Given the description of an element on the screen output the (x, y) to click on. 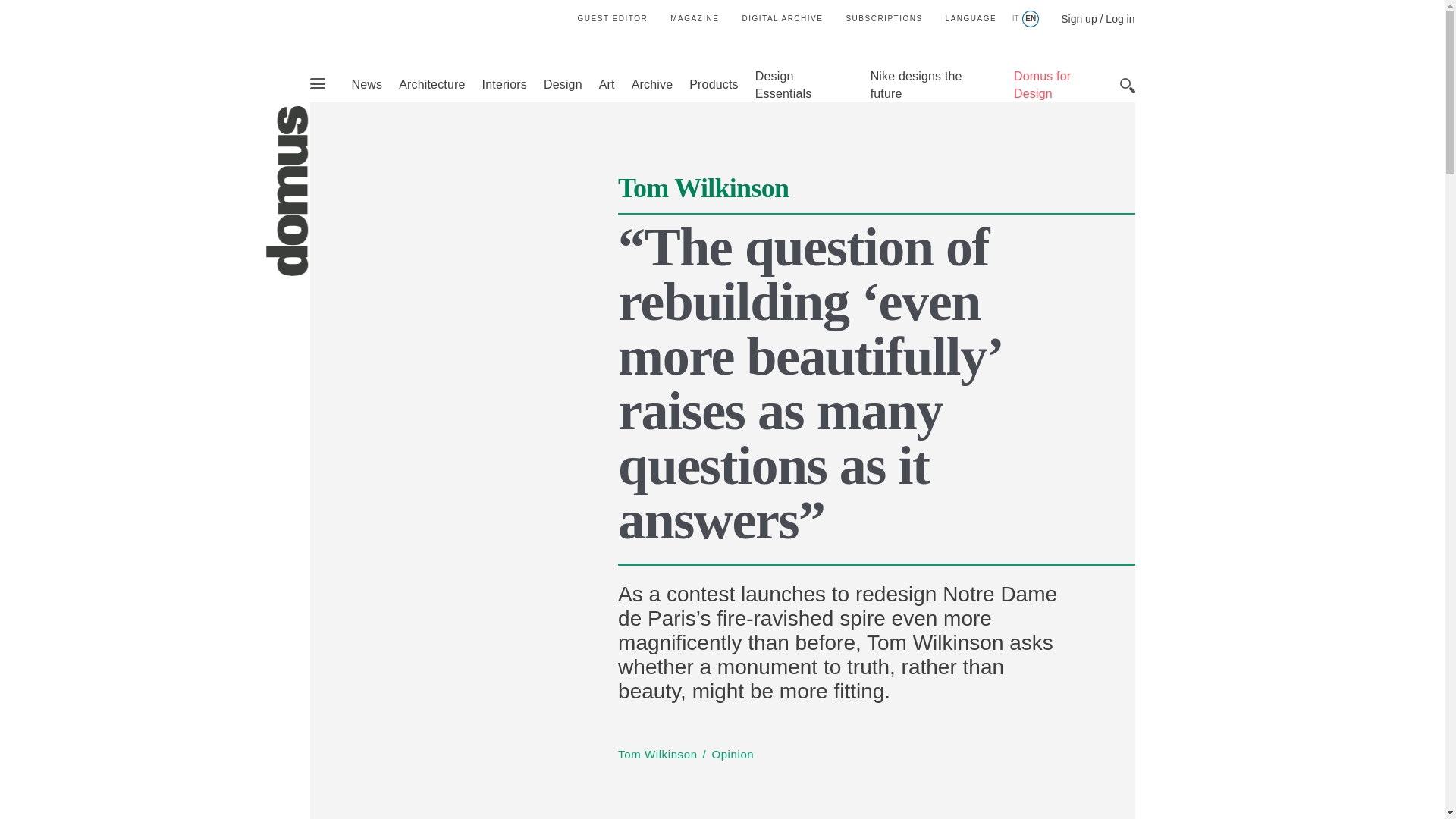
Nike designs the future (916, 84)
Architecture (431, 83)
Design (562, 83)
GUEST EDITOR (612, 18)
News (365, 83)
MAGAZINE (694, 18)
EN (1030, 18)
DIGITAL ARCHIVE (781, 18)
Archive (651, 83)
Art (606, 83)
Domus for Design (1041, 84)
SUBSCRIPTIONS (883, 18)
Interiors (504, 83)
IT (1015, 18)
Design Essentials (783, 84)
